Given the description of an element on the screen output the (x, y) to click on. 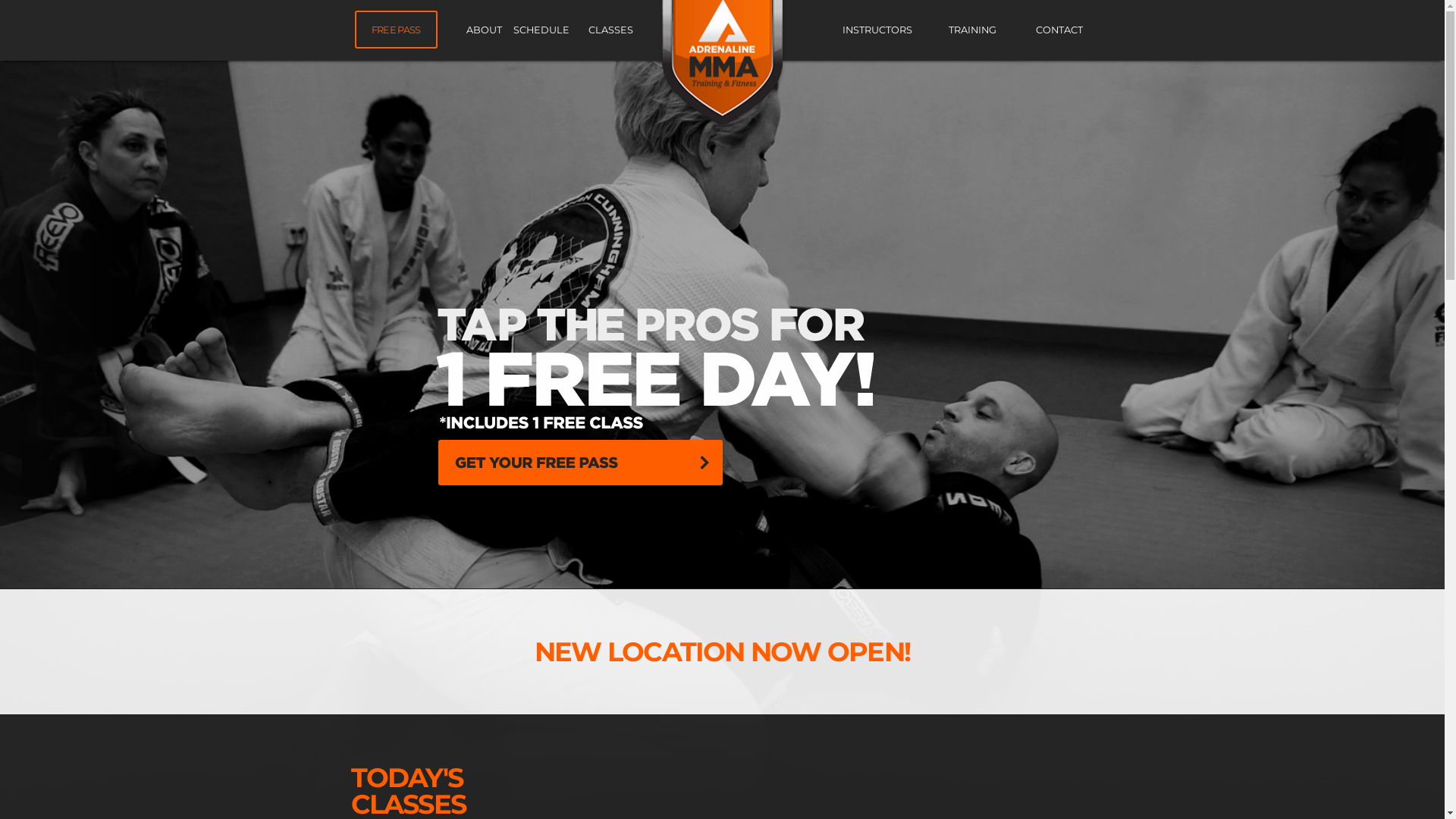
CONTACT Element type: text (1058, 29)
SCHEDULE Element type: text (541, 29)
INSTRUCTORS Element type: text (877, 29)
CLASSES Element type: text (610, 29)
FREE PASS Element type: text (395, 29)
ADRENALINE Element type: text (722, 63)
TRAINING Element type: text (972, 29)
  Element type: text (721, 324)
ABOUT Element type: text (484, 29)
